Given the description of an element on the screen output the (x, y) to click on. 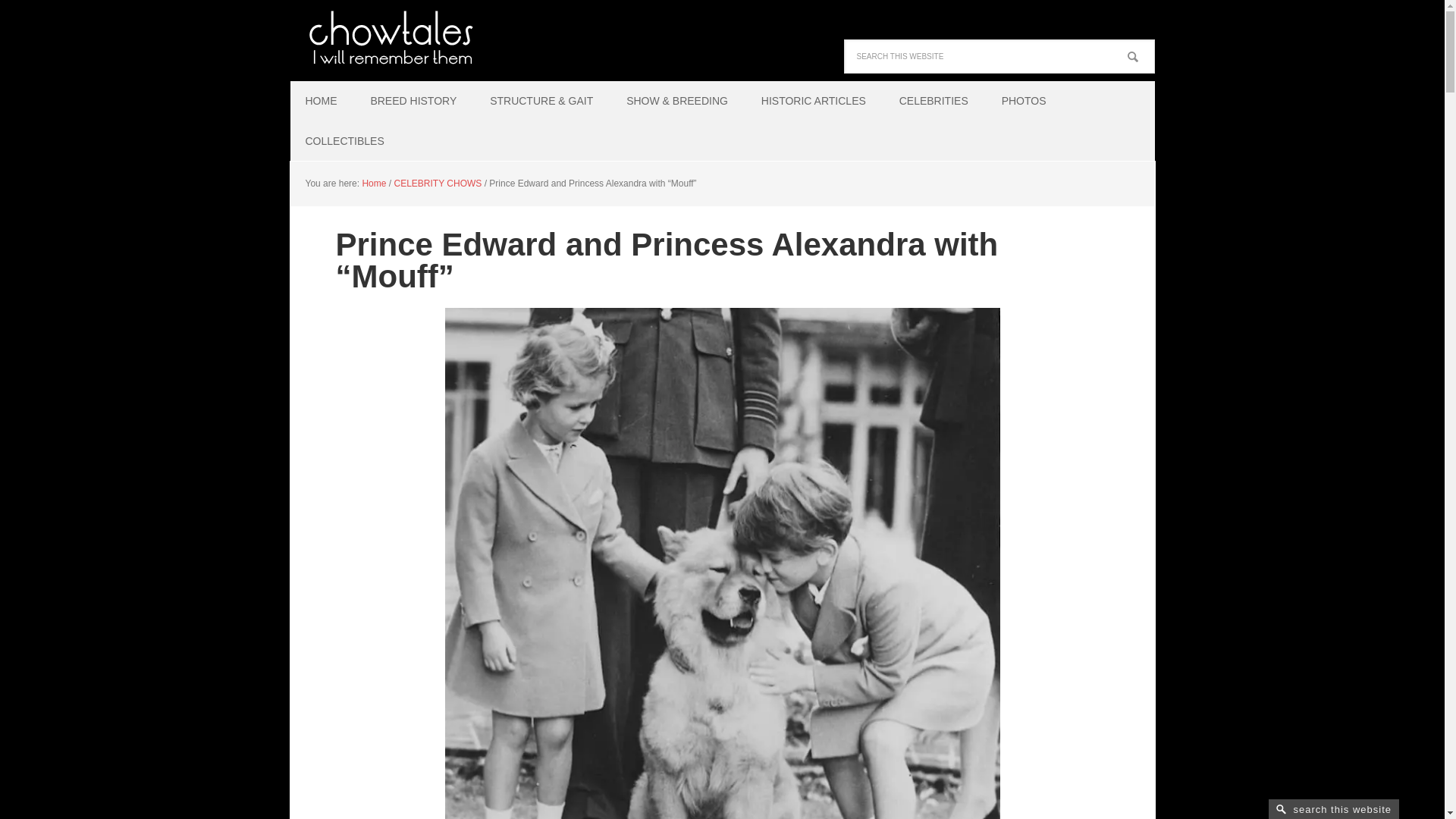
HISTORIC ARTICLES (812, 101)
CELEBRITIES (933, 101)
Curated Photo Collections by topic (1024, 101)
All related topics are in this dropdown  (676, 101)
BREED HISTORY (413, 101)
Celebrities who were owned by Chows (933, 101)
COLLECTIBLES (343, 141)
HOME (320, 101)
PHOTOS (1024, 101)
ChowTales (387, 38)
